Given the description of an element on the screen output the (x, y) to click on. 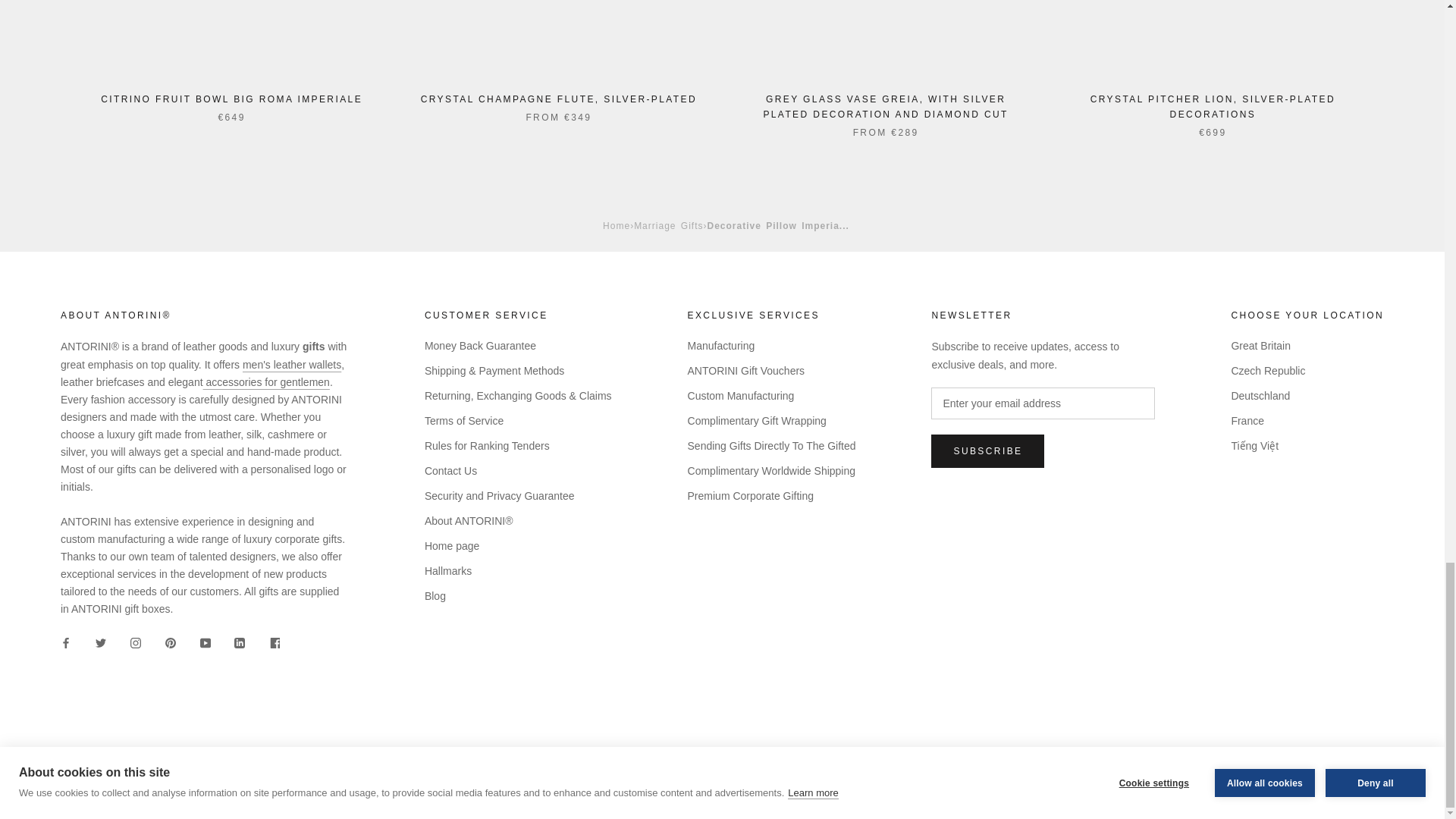
Apple Pay (1286, 765)
Google Pay (1328, 765)
PayPal (1369, 765)
